Given the description of an element on the screen output the (x, y) to click on. 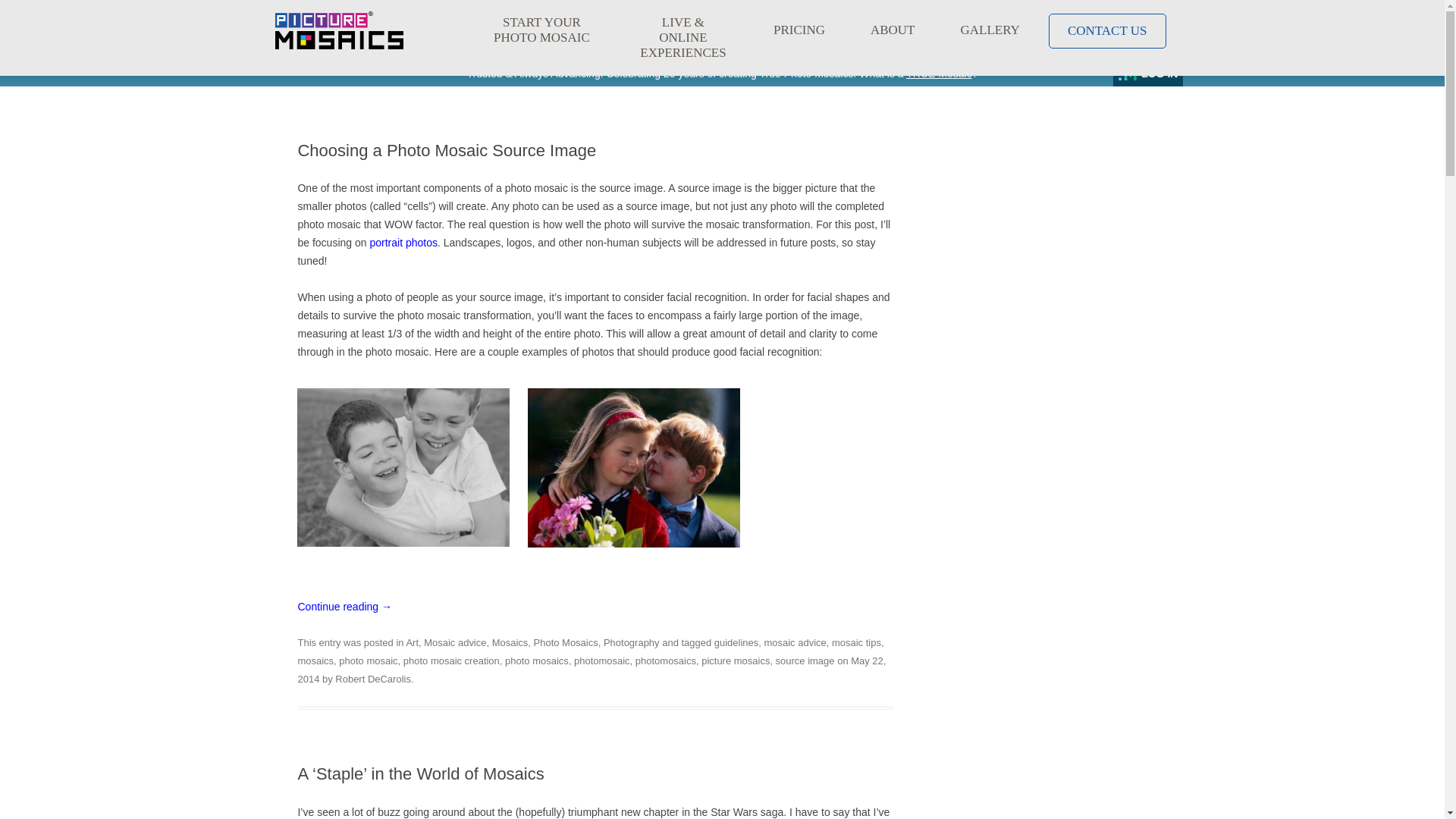
Picture Mosaics Gallery (403, 242)
Photo Mosaic Services (339, 30)
Choosing a Photo Mosaic Source Image (446, 149)
TRUE Mosaic (938, 73)
View all posts by Robert DeCarolis (372, 678)
PRICING (799, 30)
ABOUT (892, 30)
GALLERY (989, 30)
Picture Mosaics Blog (389, 122)
4:17 PM (591, 669)
